Given the description of an element on the screen output the (x, y) to click on. 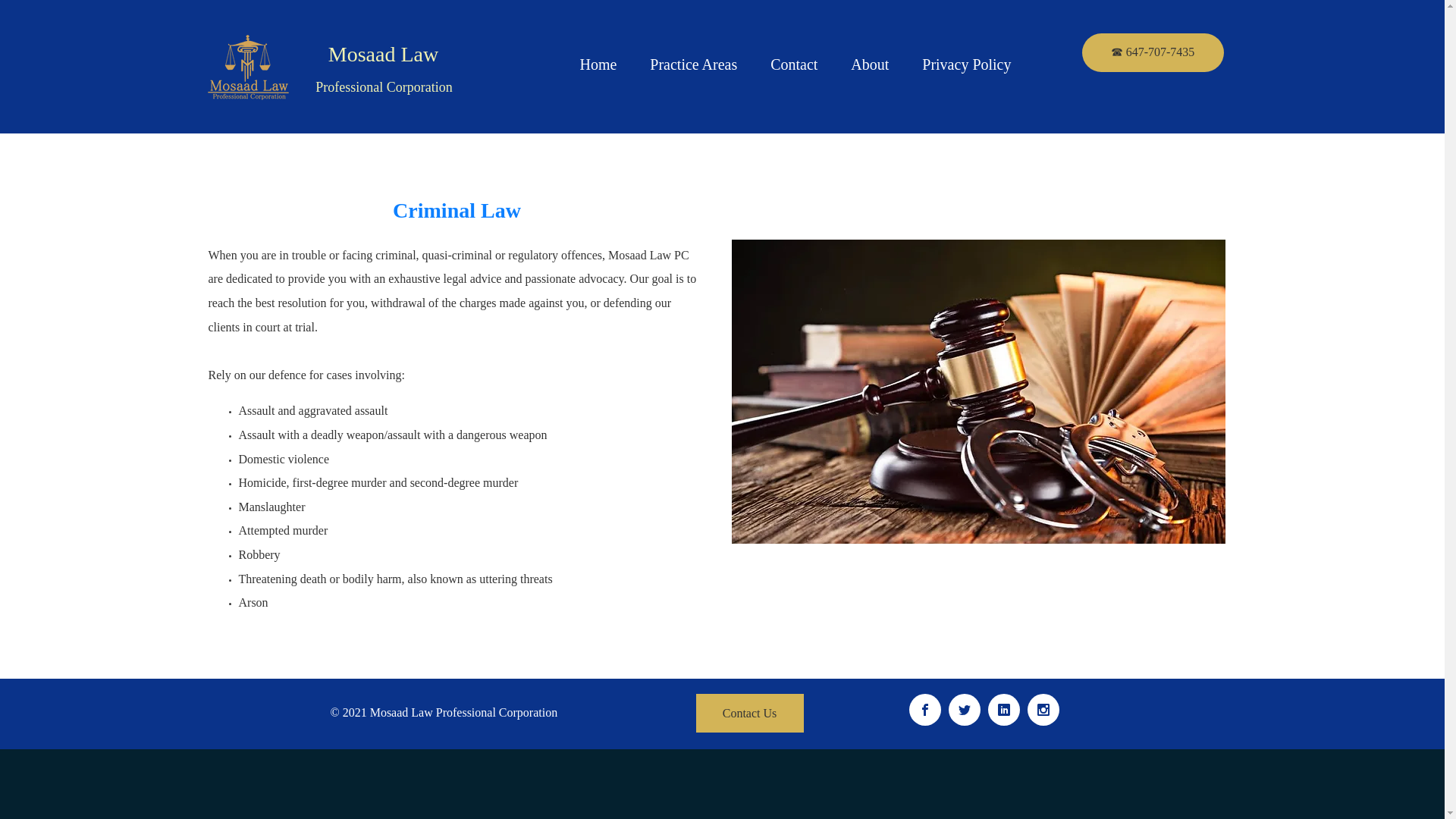
Contact (794, 64)
Home (597, 64)
Practice Areas (693, 64)
Privacy Policy (966, 64)
About (869, 64)
Contact Us (749, 712)
